Given the description of an element on the screen output the (x, y) to click on. 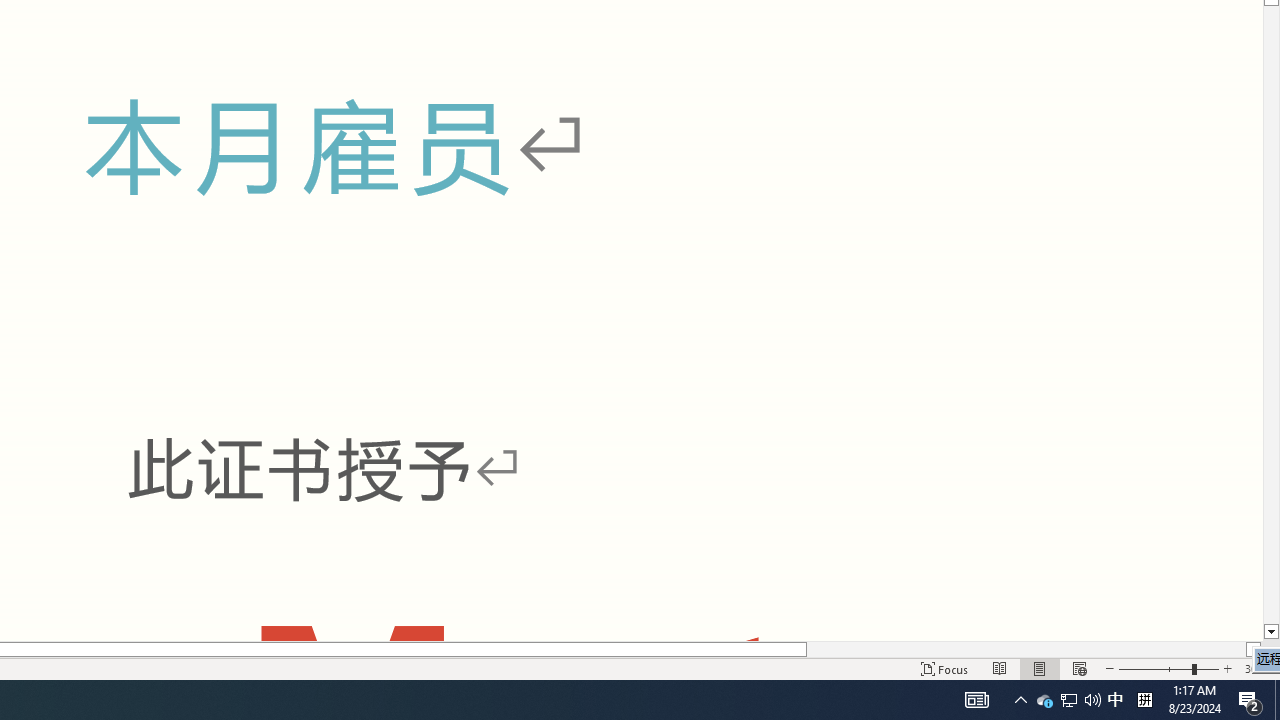
Column right (1254, 649)
Zoom 308% (1258, 668)
Line down (1271, 632)
Page down (1271, 314)
Page right (1025, 649)
Zoom (1168, 668)
